Given the description of an element on the screen output the (x, y) to click on. 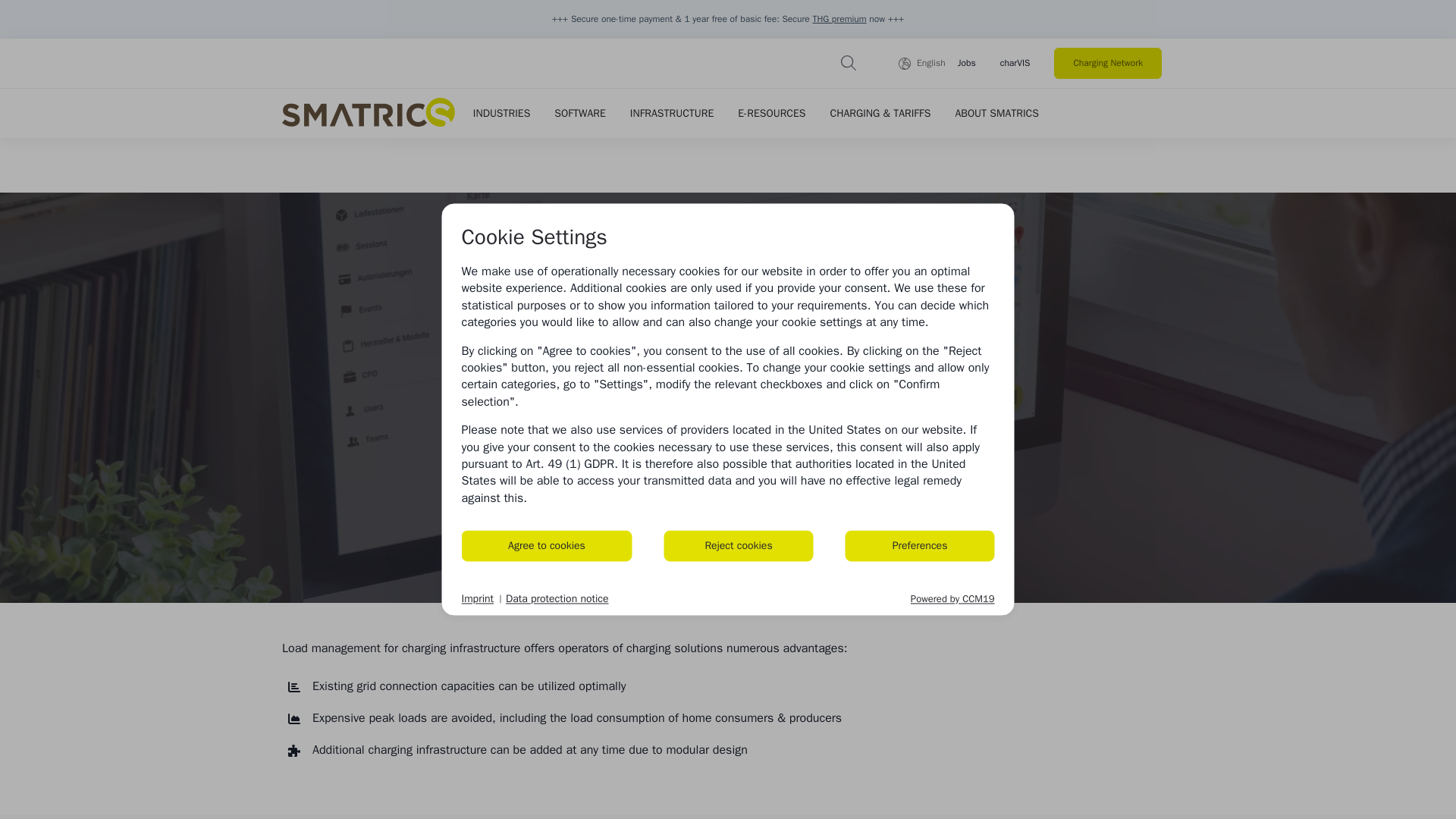
English (921, 63)
THG premium Austria 2024 from SMATRICS (839, 19)
Home (368, 111)
THG premium (839, 19)
Charging Network (1107, 62)
